Given the description of an element on the screen output the (x, y) to click on. 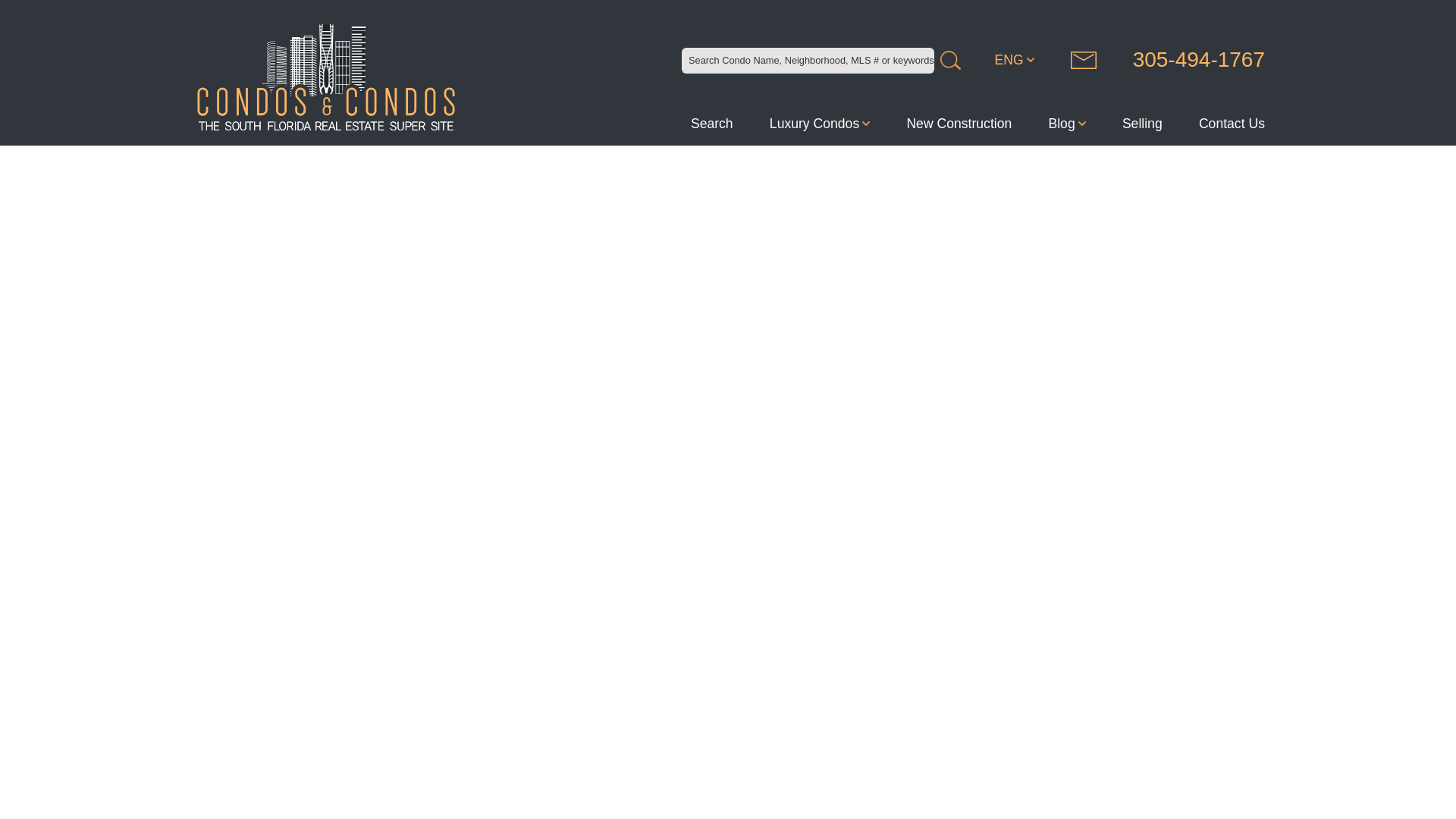
ENG (1023, 60)
305-494-1767 (1199, 60)
Selling (1142, 123)
New Construction (958, 123)
Luxury Condos (819, 123)
Search (711, 123)
Contact Us (1231, 123)
Blog (1066, 123)
